Given the description of an element on the screen output the (x, y) to click on. 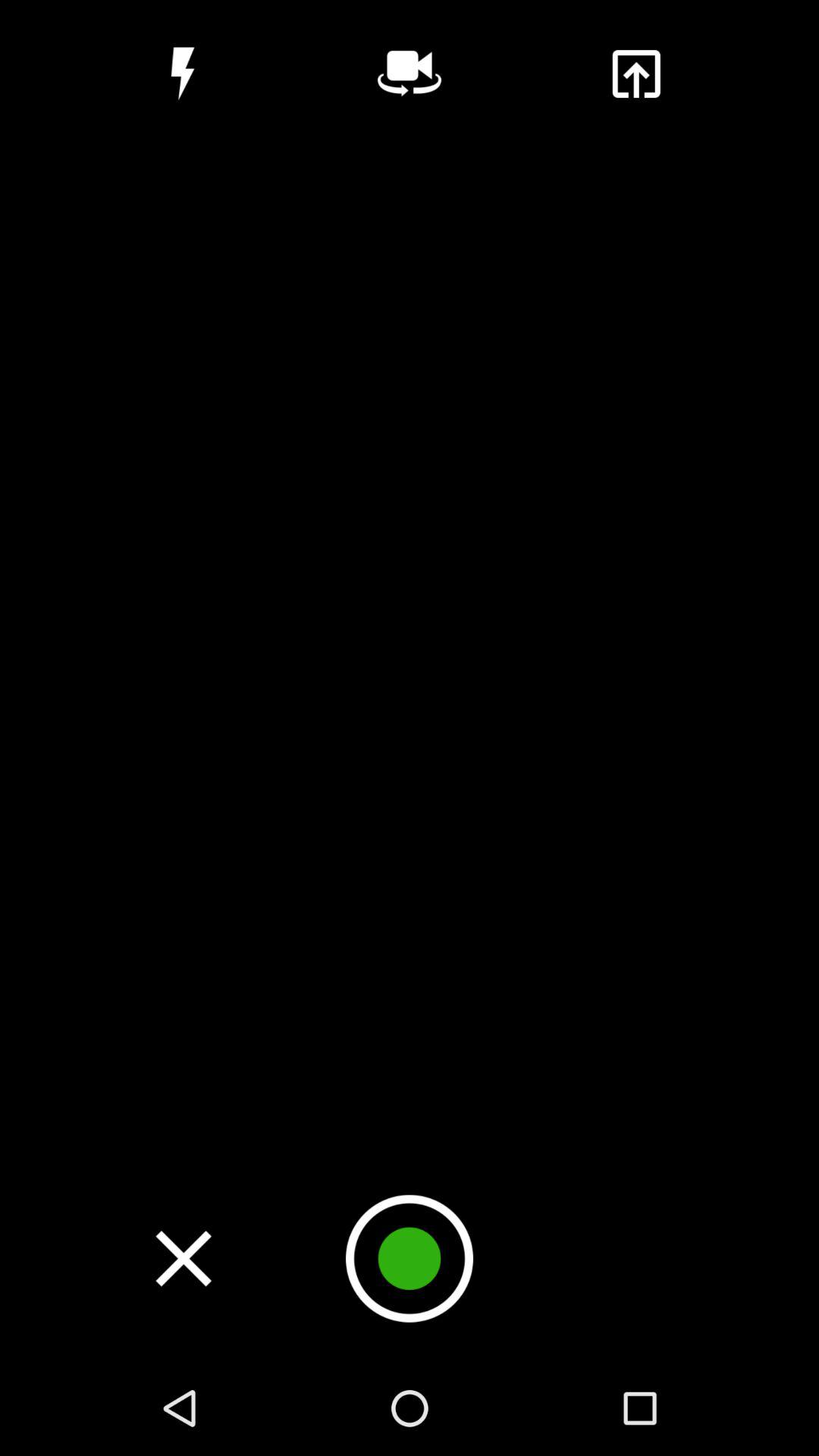
toggle flash options (182, 73)
